Given the description of an element on the screen output the (x, y) to click on. 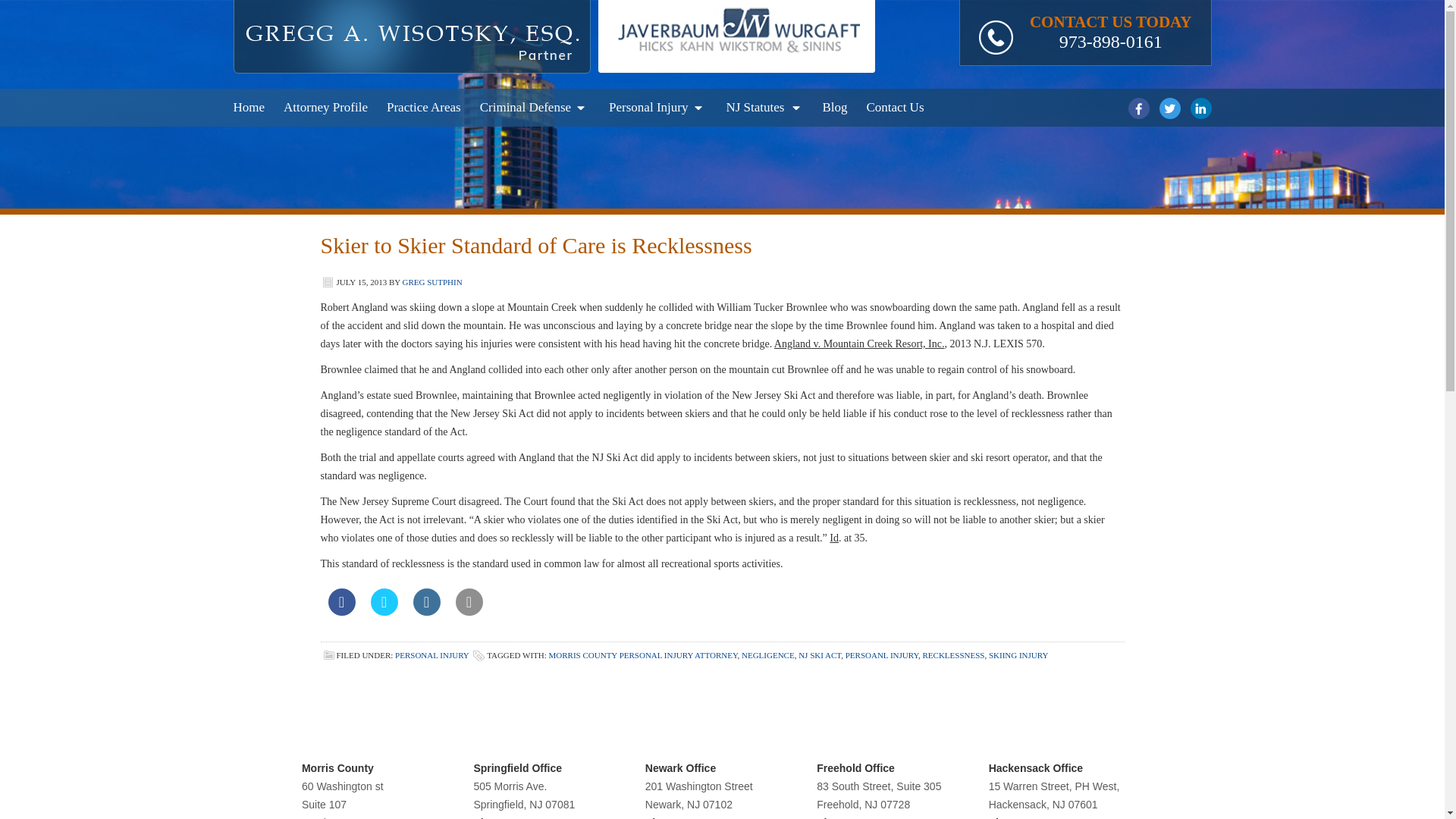
Practice Areas (424, 107)
973-898-0161 (1110, 41)
Personal Injury (657, 107)
Attorney Profile (325, 107)
Criminal Defense (534, 107)
